Given the description of an element on the screen output the (x, y) to click on. 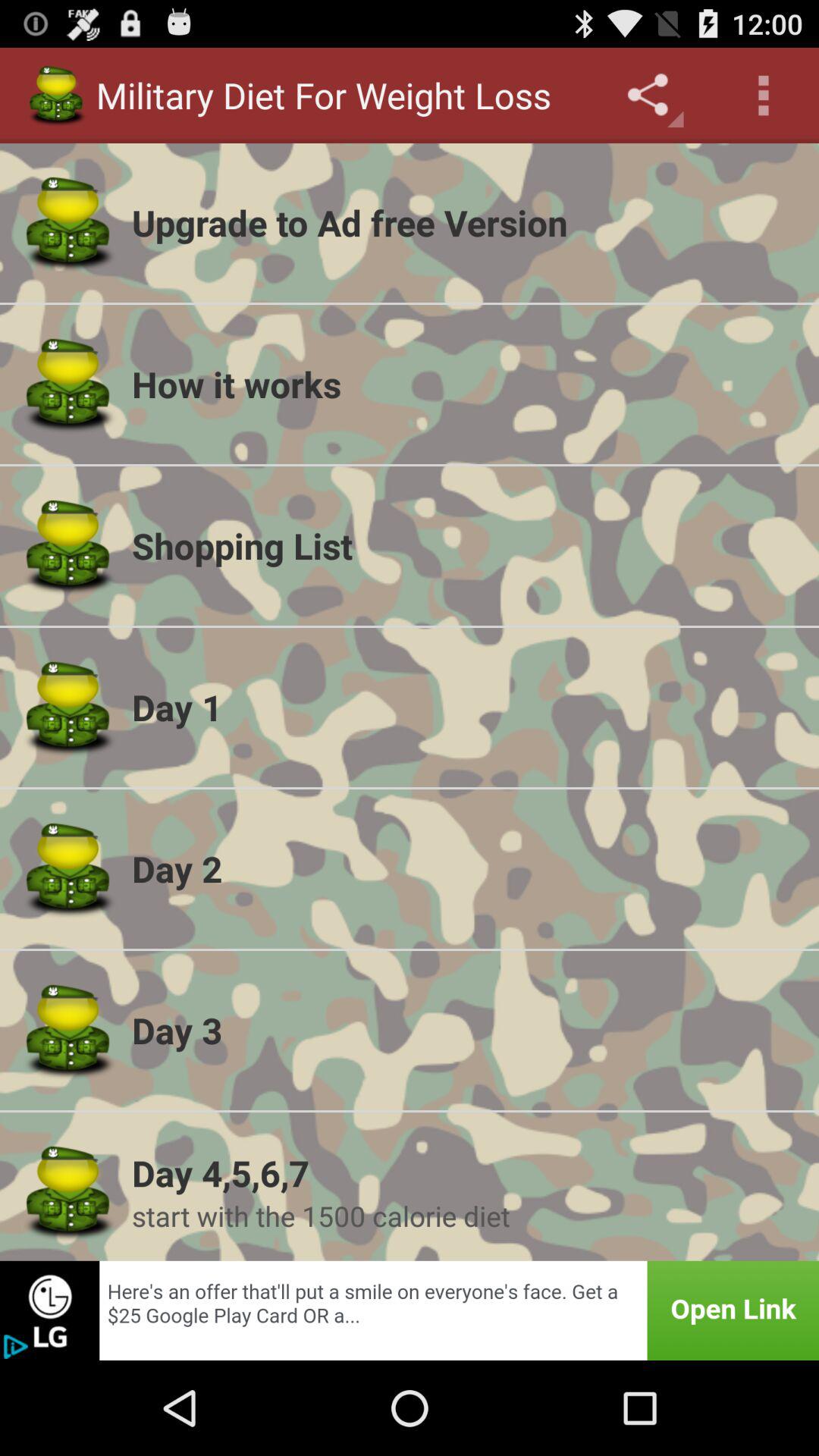
swipe to day 3 (465, 1030)
